Given the description of an element on the screen output the (x, y) to click on. 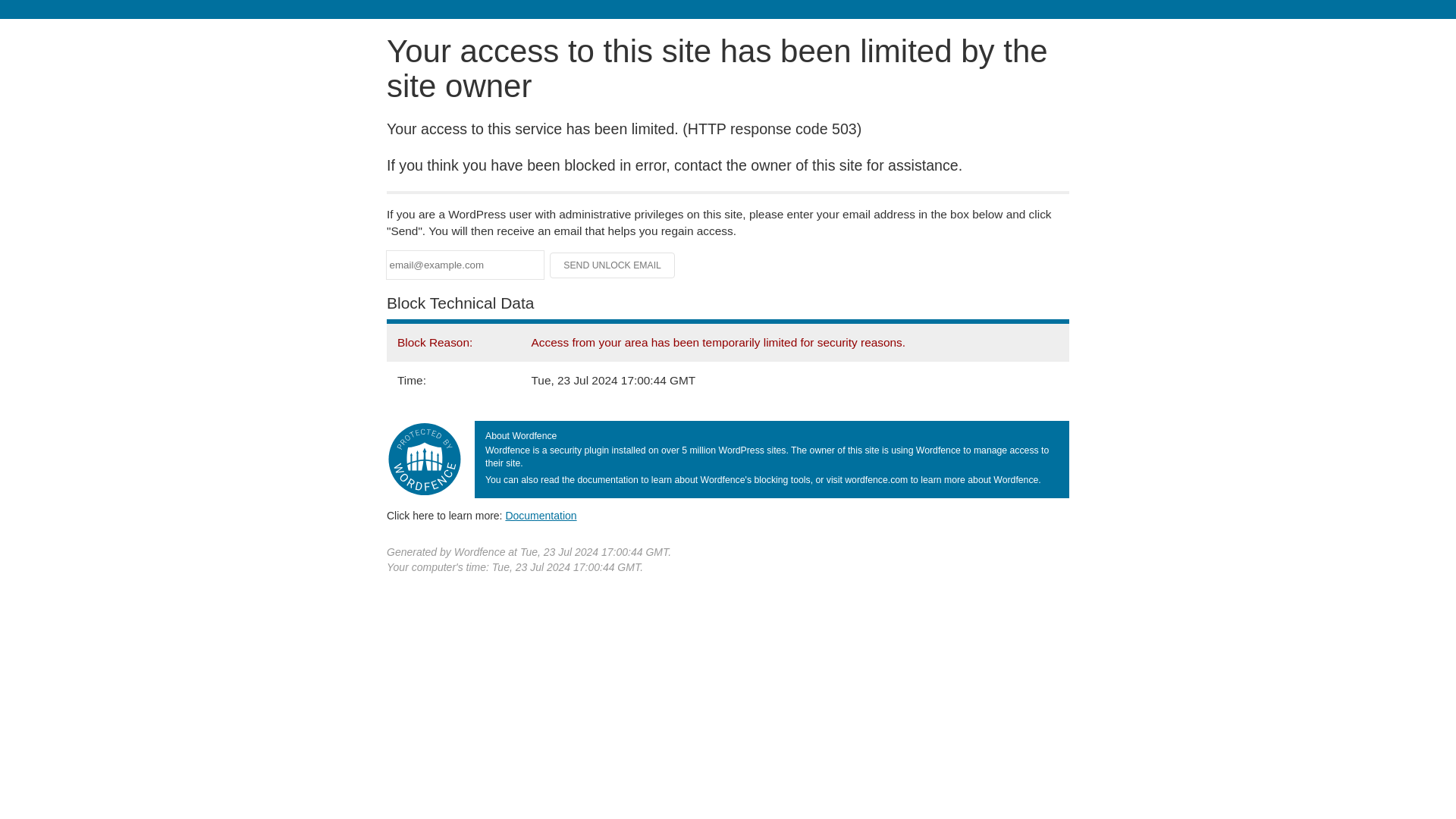
Send Unlock Email (612, 265)
Send Unlock Email (612, 265)
Documentation (540, 515)
